Given the description of an element on the screen output the (x, y) to click on. 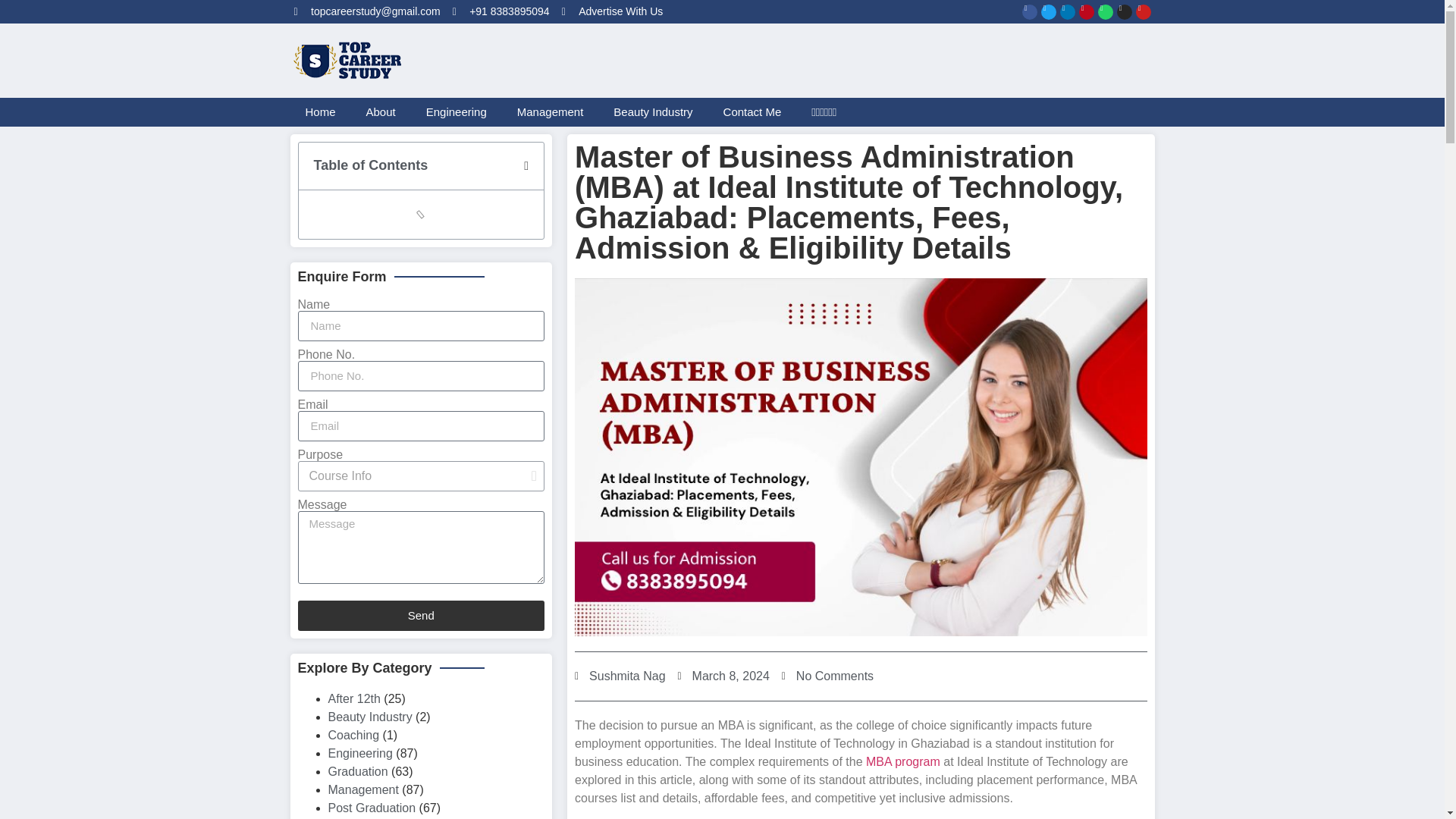
Home (319, 111)
Advertise With Us (612, 11)
Contact Me (751, 111)
About (380, 111)
Management (550, 111)
Beauty Industry (652, 111)
Send (420, 615)
Engineering (456, 111)
